Given the description of an element on the screen output the (x, y) to click on. 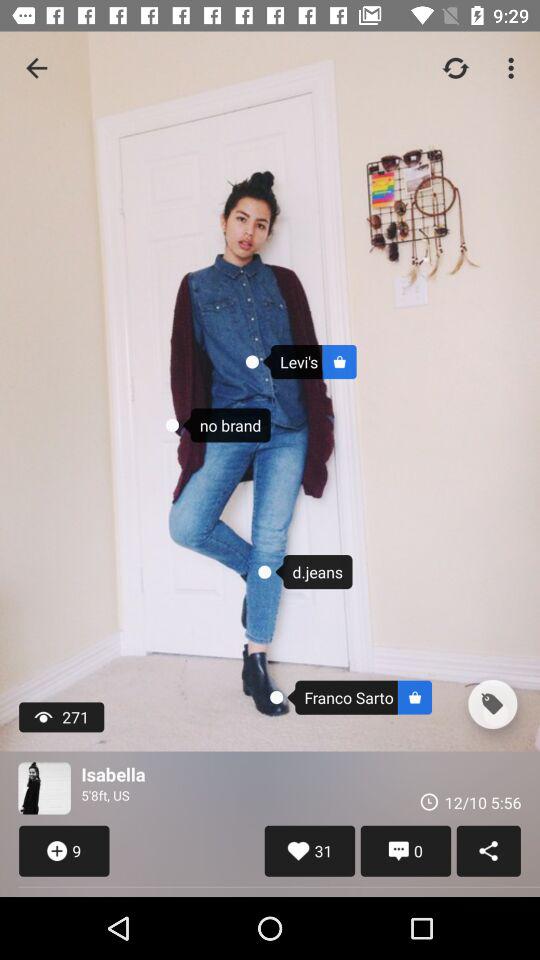
launch the item to the left of isabella item (44, 787)
